Given the description of an element on the screen output the (x, y) to click on. 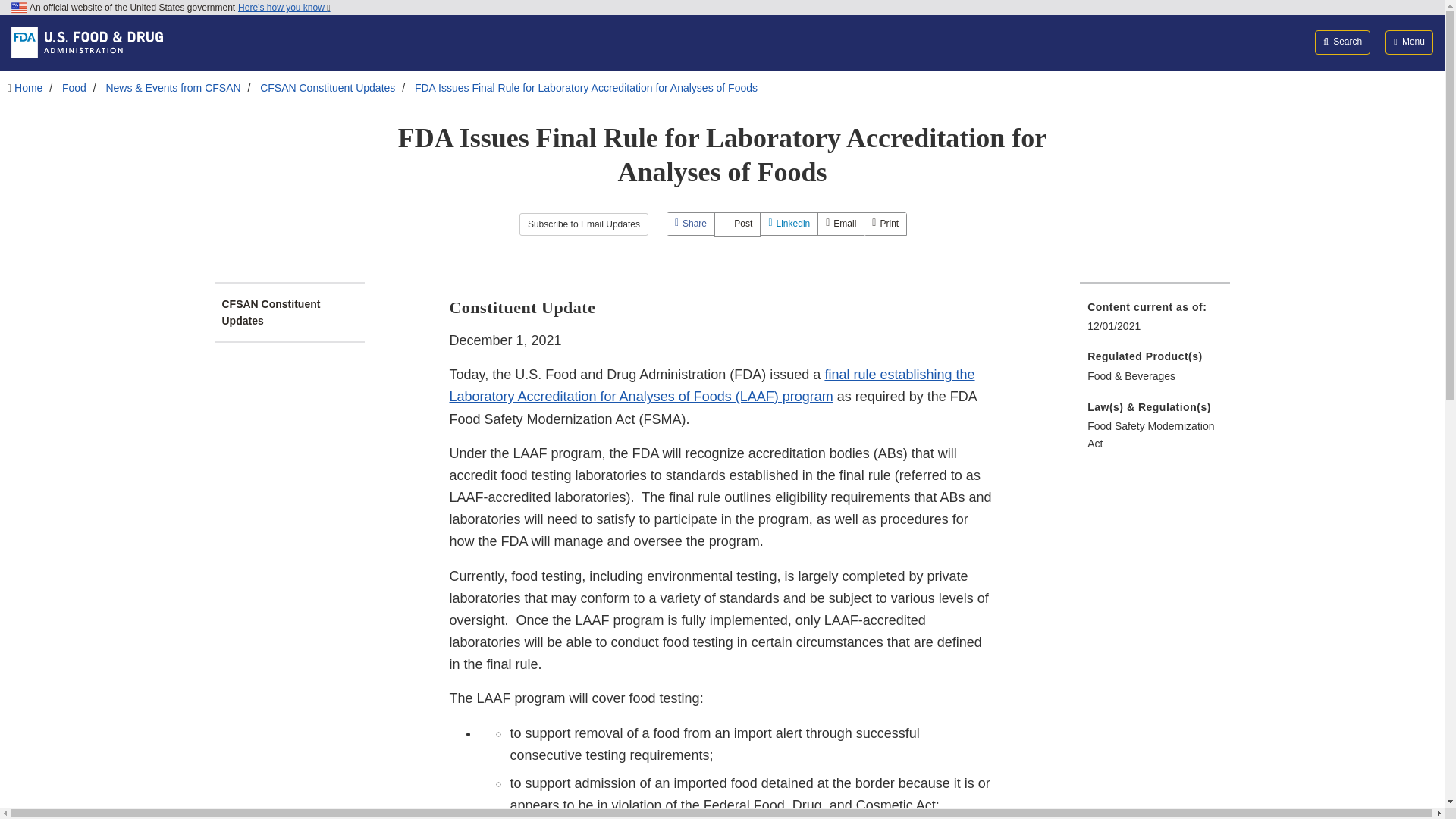
  Menu (1409, 42)
Print this page (884, 223)
  Search (1342, 42)
